Given the description of an element on the screen output the (x, y) to click on. 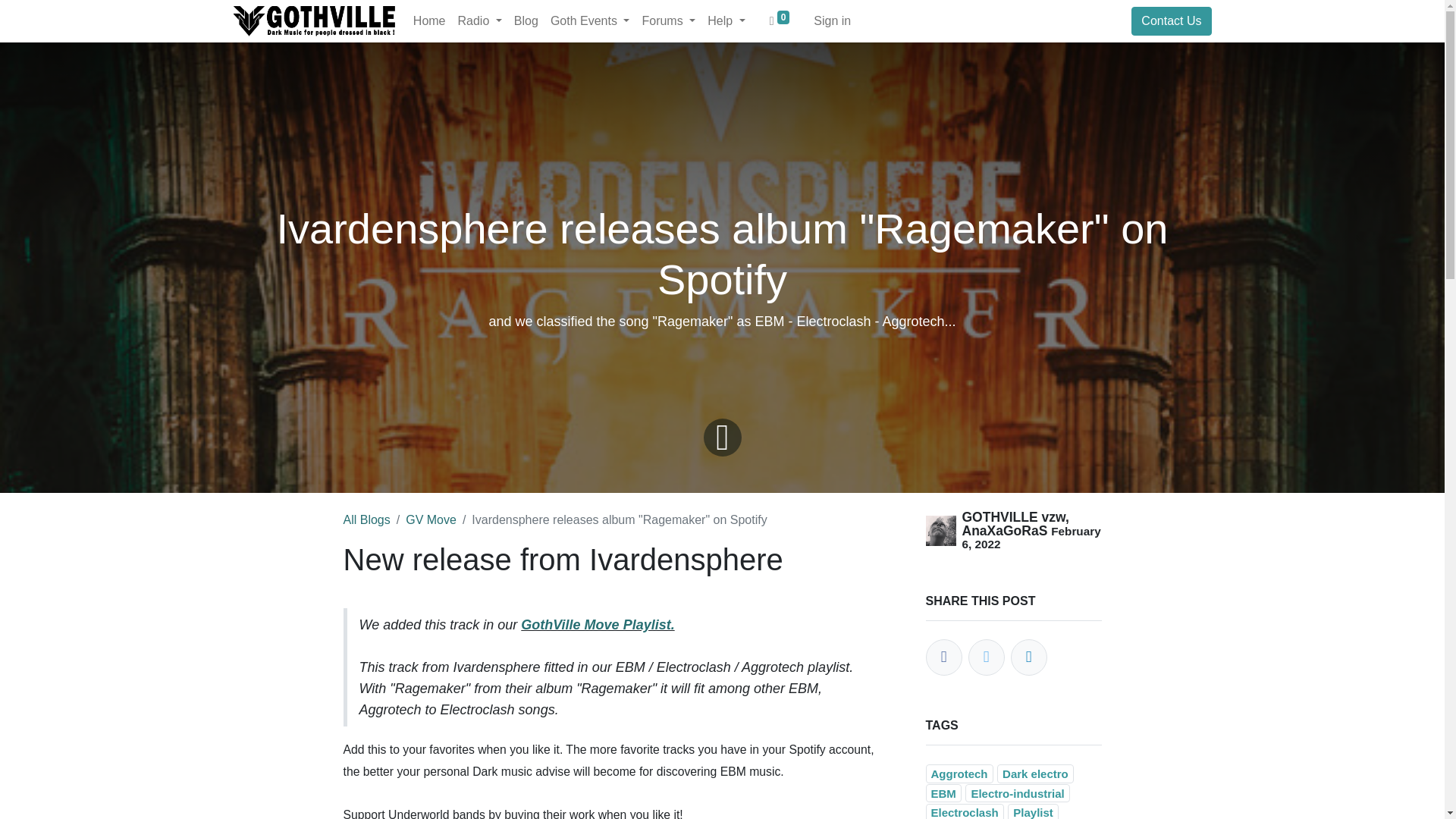
Home (429, 20)
0 (779, 20)
Radio (479, 20)
Goth Events (590, 20)
Forums (667, 20)
Sign in (832, 20)
Contact Us (1171, 21)
GV Move (431, 519)
All Blogs (366, 519)
Help (726, 20)
Blog (526, 20)
GothVille Community (313, 20)
GothVille Move Playlist. (597, 624)
